Given the description of an element on the screen output the (x, y) to click on. 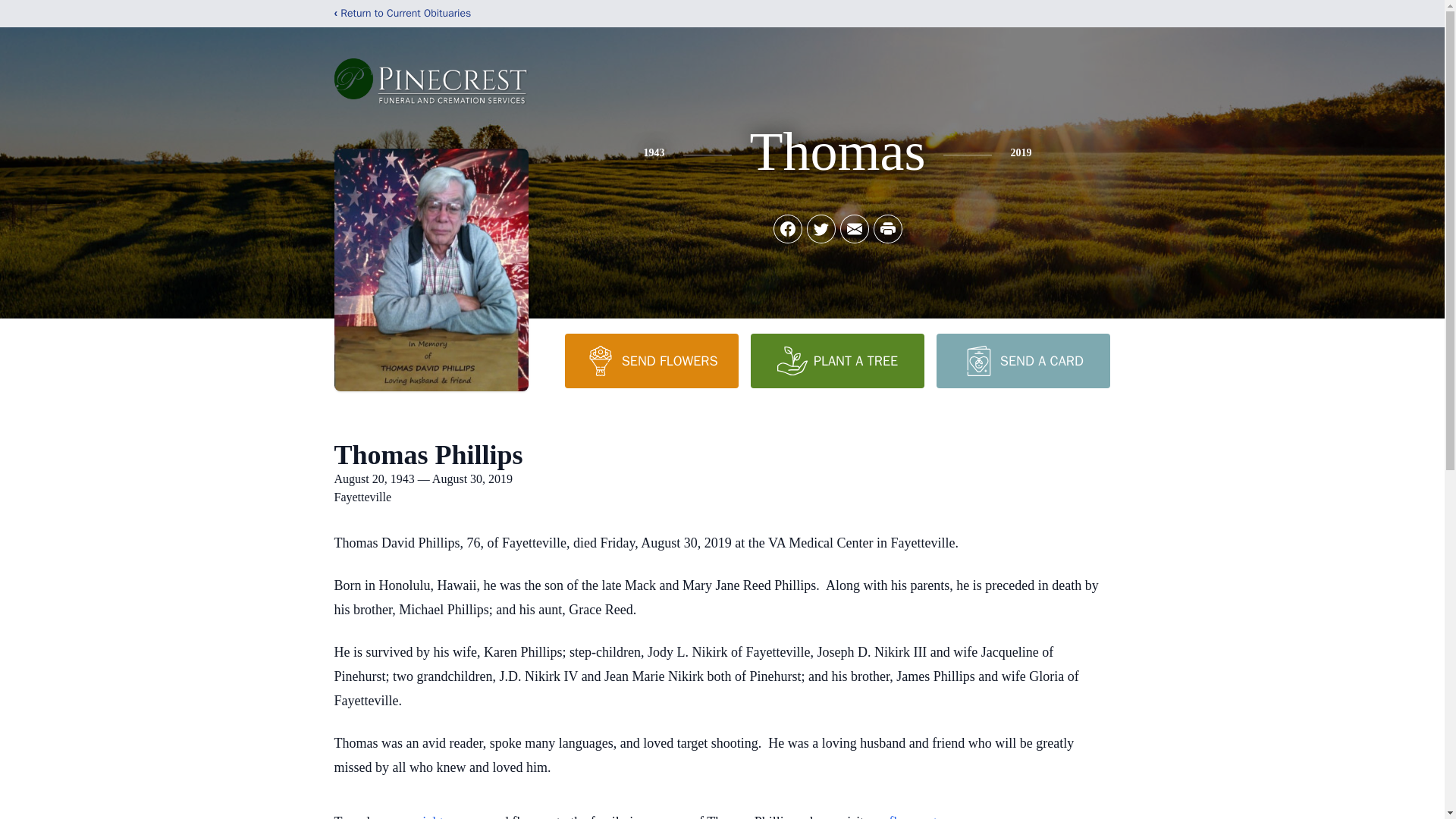
memorial trees (424, 816)
SEND FLOWERS (651, 360)
flower store (920, 816)
PLANT A TREE (837, 360)
SEND A CARD (1022, 360)
